Given the description of an element on the screen output the (x, y) to click on. 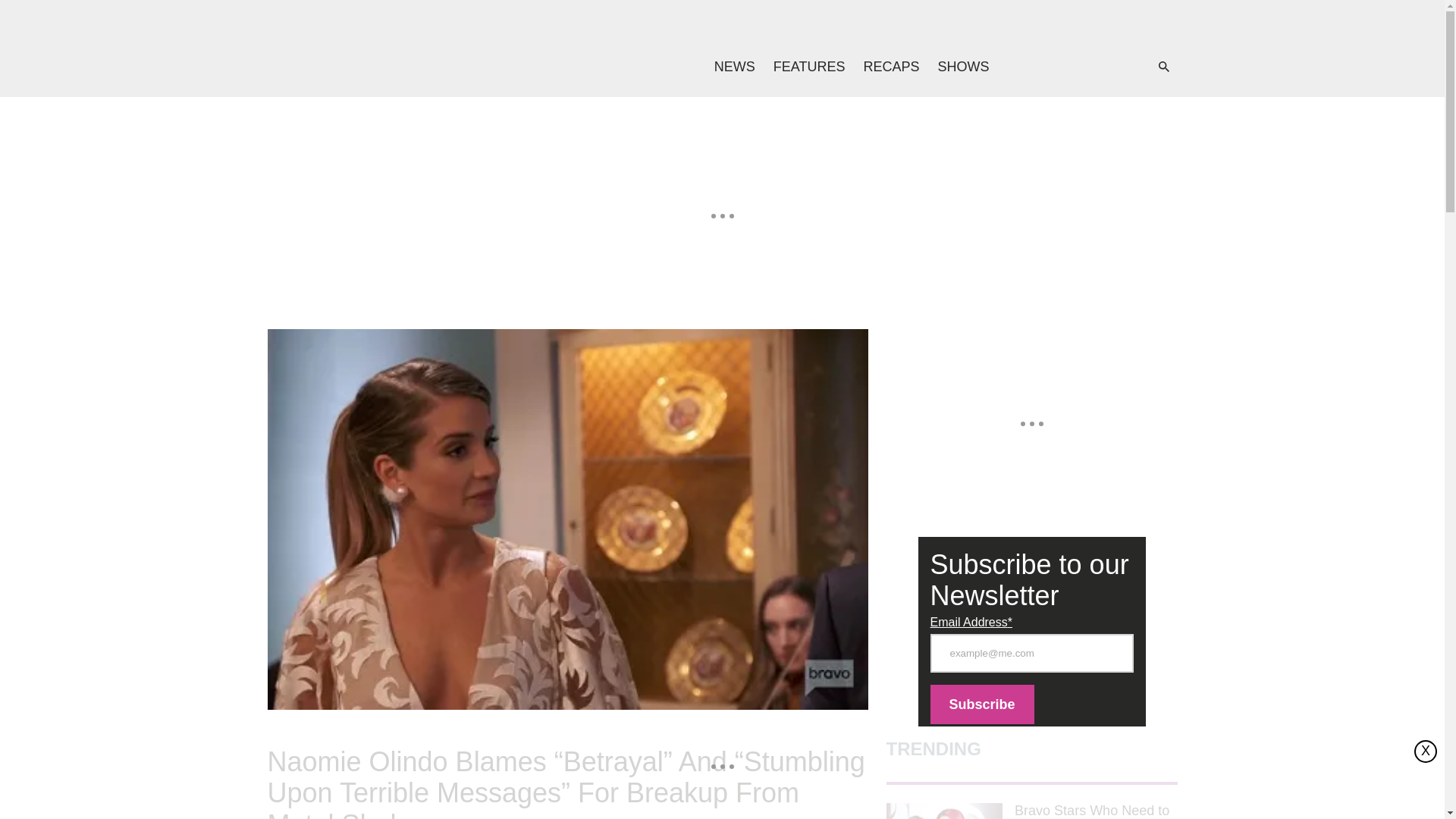
RECAPS (890, 66)
NEWS (734, 66)
Twitter (1079, 66)
Facebook (1048, 66)
SHOWS (962, 66)
Pinterest (1109, 66)
FEATURES (809, 66)
